Given the description of an element on the screen output the (x, y) to click on. 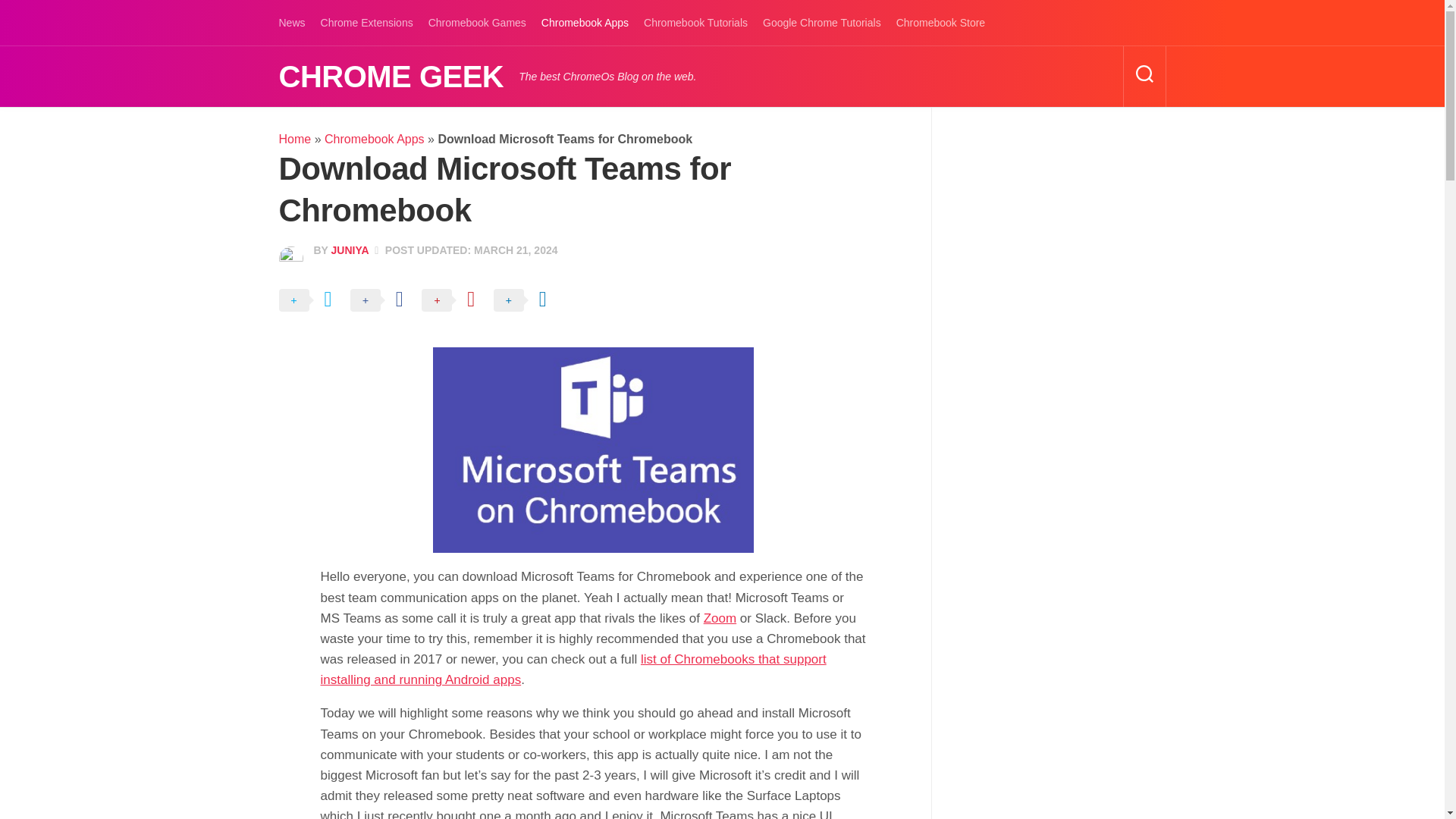
Chrome Extensions (366, 22)
Home (295, 138)
Share on X (313, 300)
Share on Pinterest (455, 300)
News (292, 22)
Zoom (719, 617)
Chromebook Games (476, 22)
Chromebook Apps (374, 138)
Posts by Juniya (349, 250)
JUNIYA (349, 250)
Mteams chromebook (593, 449)
Chromebook Store (940, 22)
Chromebook Apps (584, 22)
Share on LinkedIn (527, 300)
Google Chrome Tutorials (821, 22)
